Given the description of an element on the screen output the (x, y) to click on. 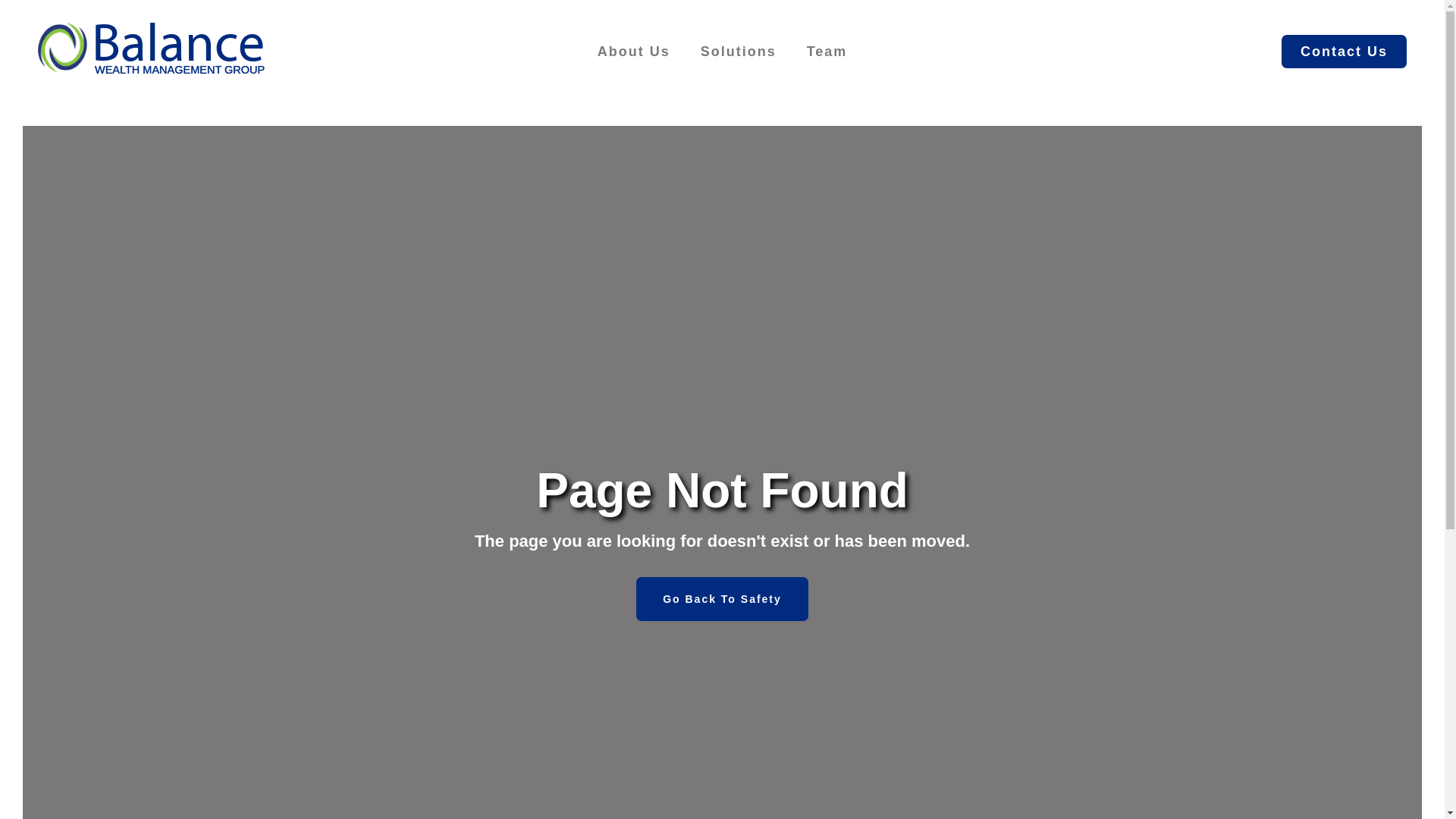
Contact Us Element type: text (1343, 51)
About Us Element type: text (633, 51)
Team Element type: text (826, 51)
Go Back To Safety Element type: text (722, 599)
Solutions Element type: text (738, 51)
Balance
WEALTH MANAGEMENT GROUP Element type: text (150, 51)
